Given the description of an element on the screen output the (x, y) to click on. 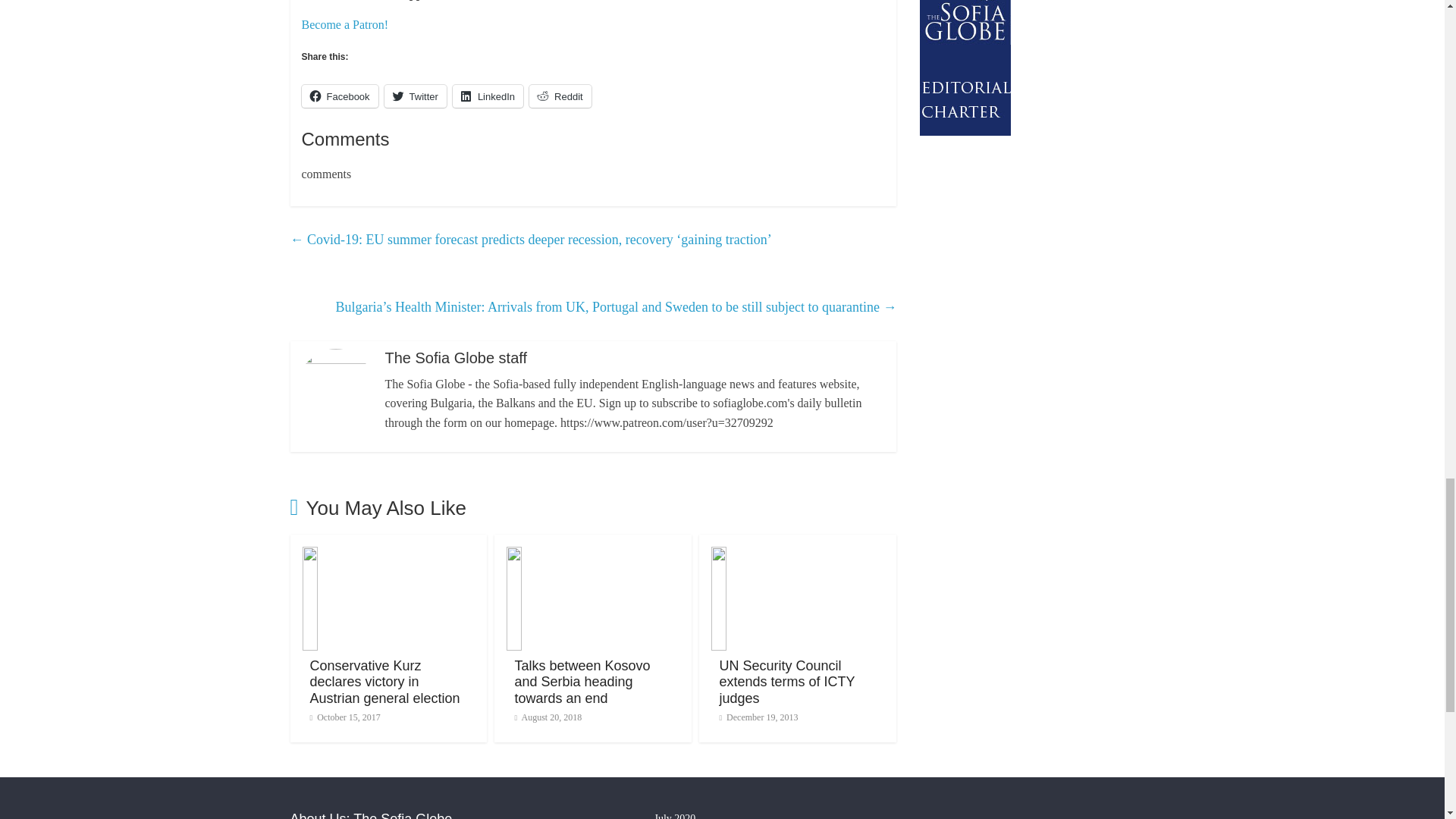
Talks between Kosovo and Serbia heading towards an end (581, 681)
UN Security Council extends terms of ICTY judges (786, 681)
Facebook (339, 96)
Click to share on Twitter (415, 96)
Twitter (415, 96)
December 19, 2013 (758, 716)
Become a Patron! (344, 24)
Click to share on LinkedIn (487, 96)
Click to share on Reddit (560, 96)
11:12 PM (344, 716)
Talks between Kosovo and Serbia heading towards an end (592, 555)
10:45 AM (546, 716)
Click to share on Facebook (339, 96)
